Given the description of an element on the screen output the (x, y) to click on. 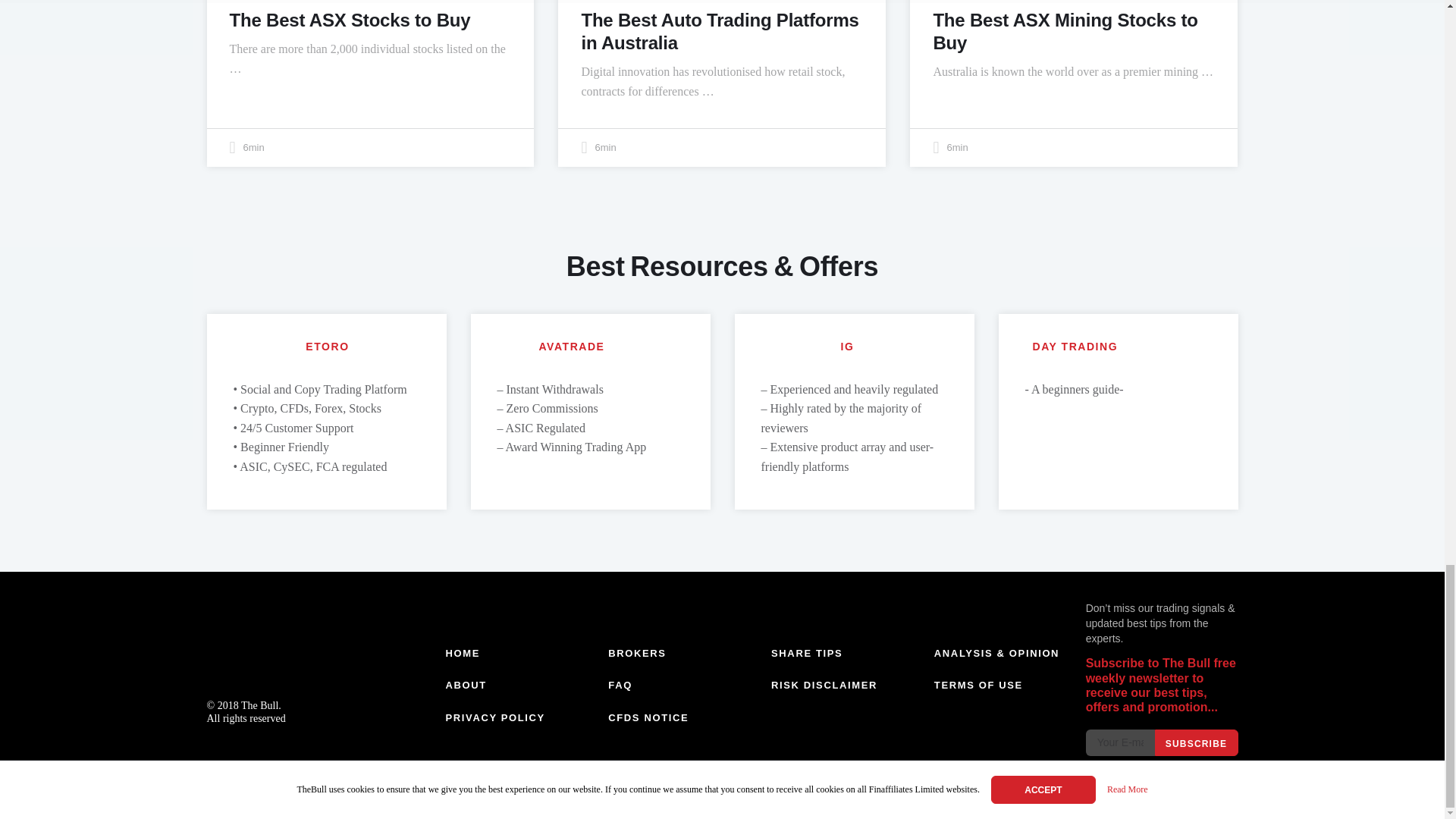
The Best ASX Stocks to Buy (349, 19)
Subscribe (1195, 742)
The Best Auto Trading Platforms in Australia (719, 31)
